Given the description of an element on the screen output the (x, y) to click on. 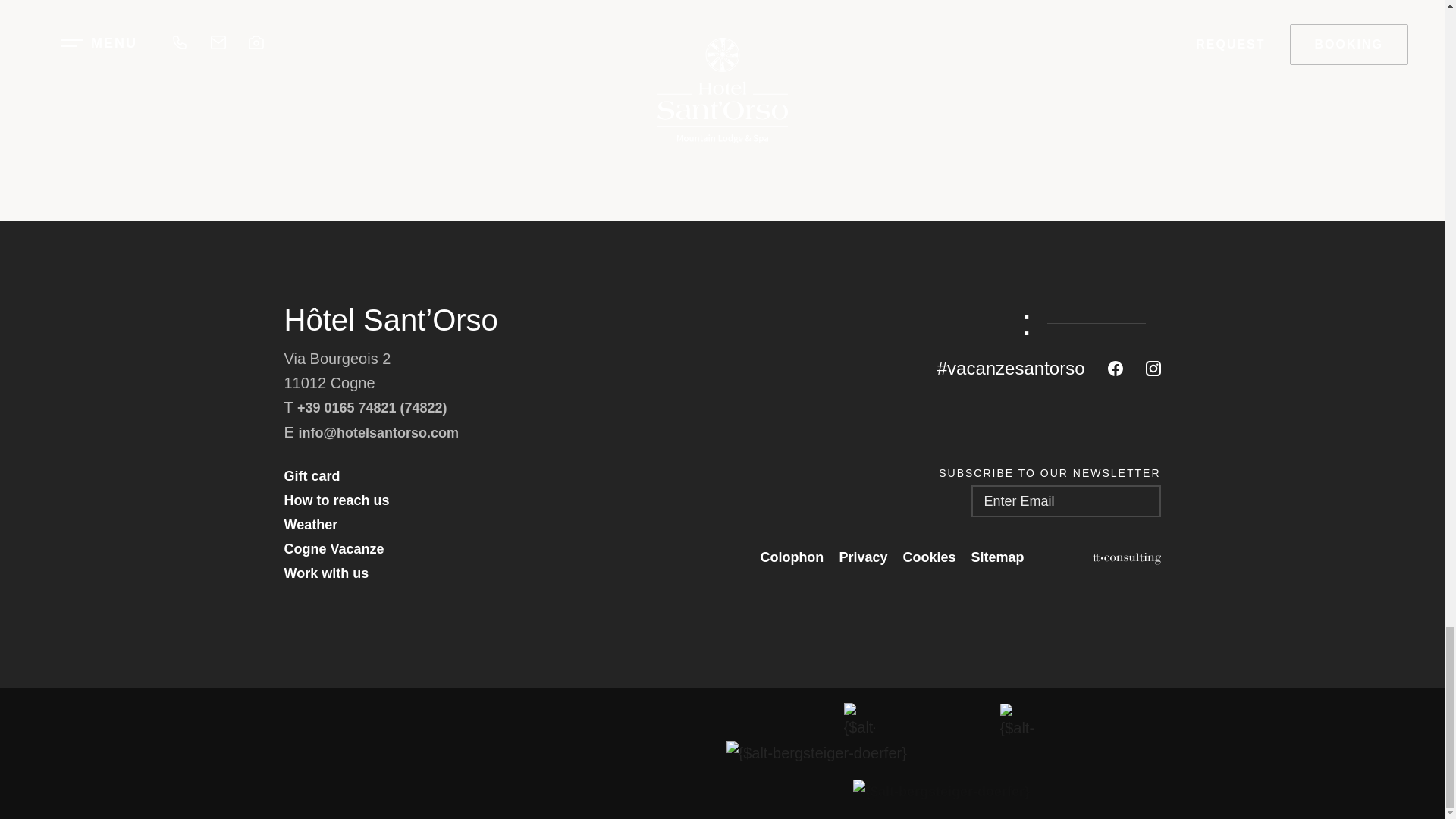
How to reach us (335, 500)
Gift card (311, 476)
